Given the description of an element on the screen output the (x, y) to click on. 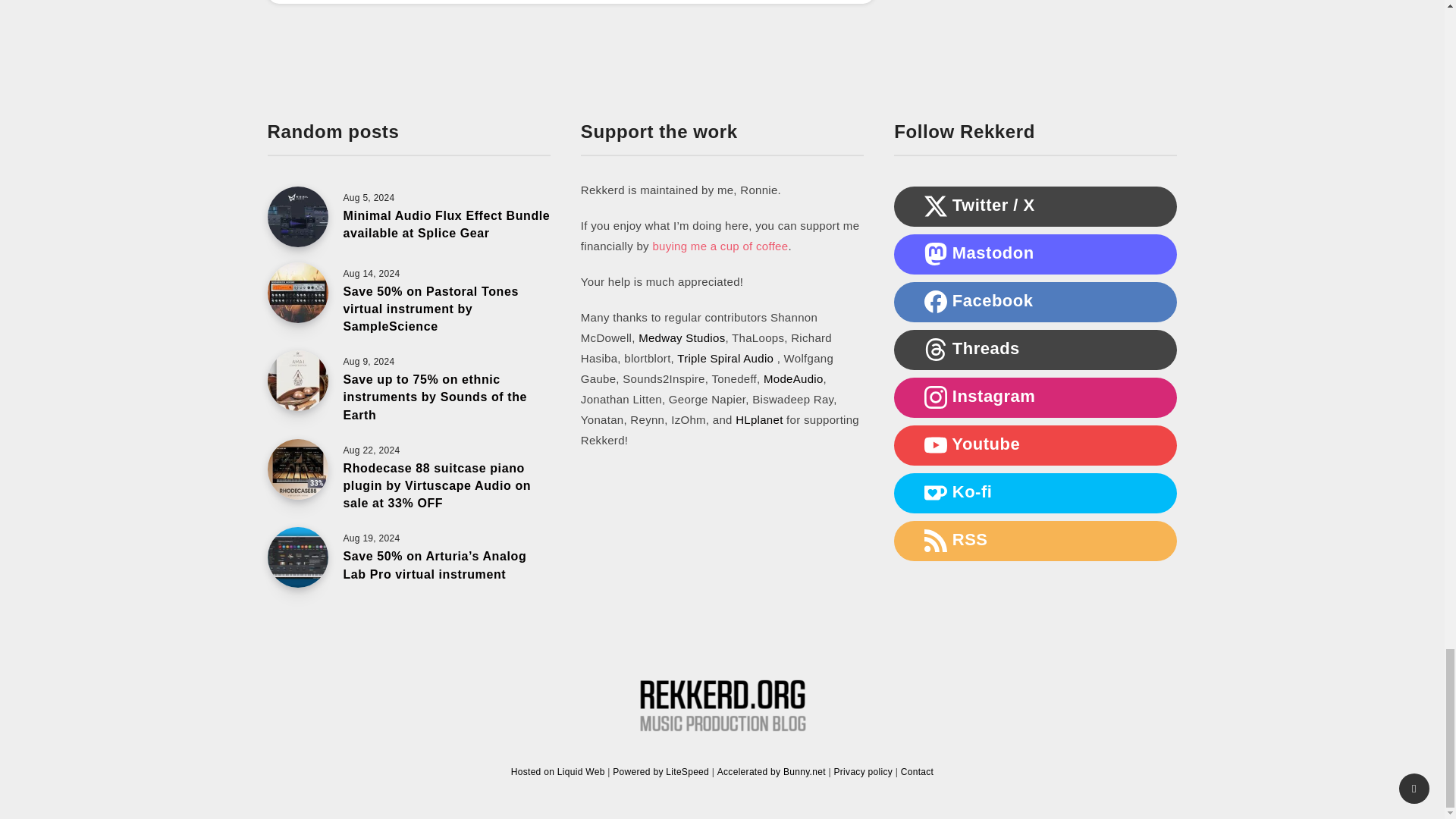
Instagram (935, 396)
Facebook (935, 301)
Mastodon (935, 253)
Ko-fi (935, 492)
YouTube (935, 445)
Threads (935, 349)
X (935, 205)
RSS (935, 540)
